Given the description of an element on the screen output the (x, y) to click on. 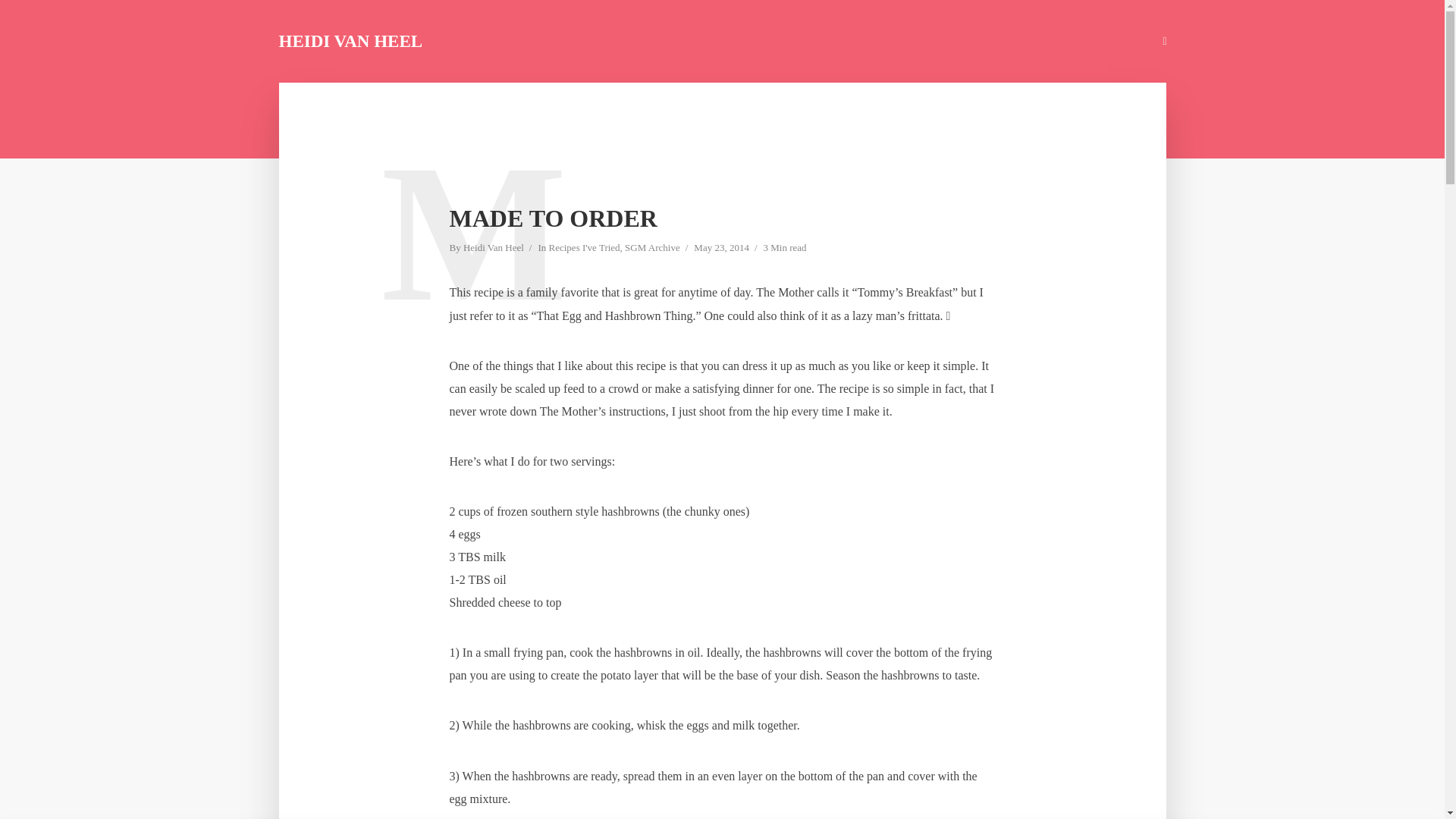
Heidi Van Heel (493, 248)
Recipes I've Tried (584, 248)
SGM Archive (651, 248)
HEIDI VAN HEEL (351, 40)
